Given the description of an element on the screen output the (x, y) to click on. 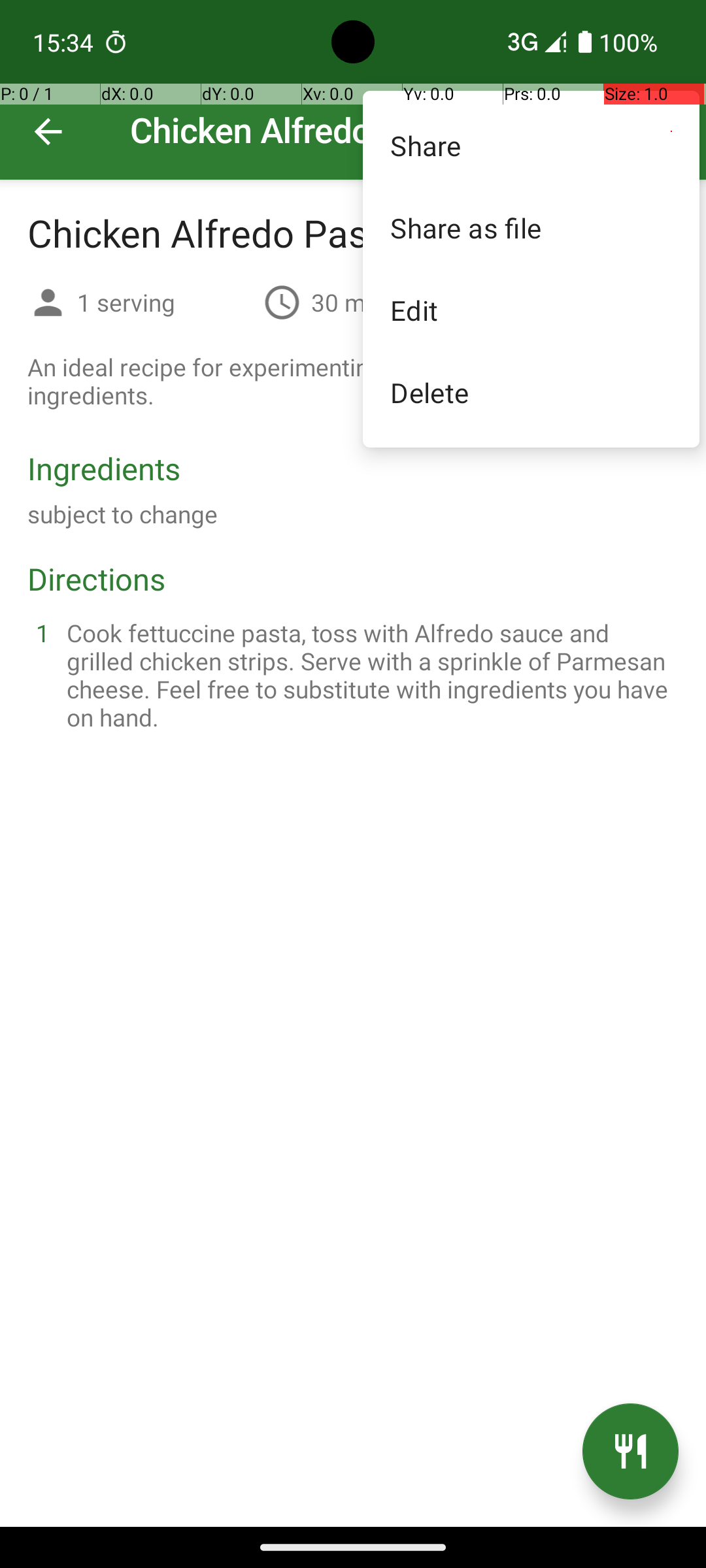
Share as file Element type: android.widget.TextView (531, 227)
Edit Element type: android.widget.TextView (531, 309)
